Given the description of an element on the screen output the (x, y) to click on. 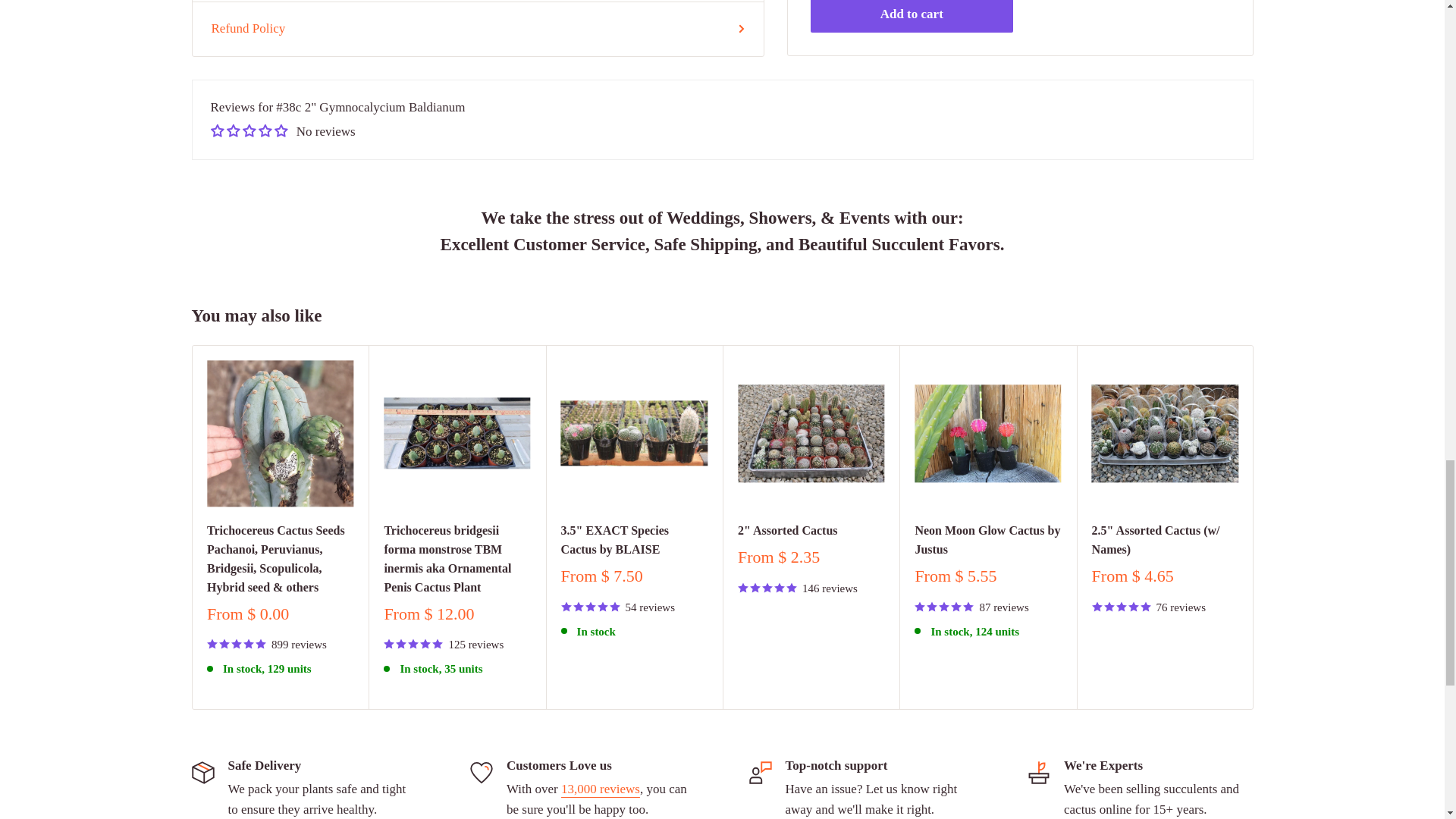
Reviews (600, 789)
